Given the description of an element on the screen output the (x, y) to click on. 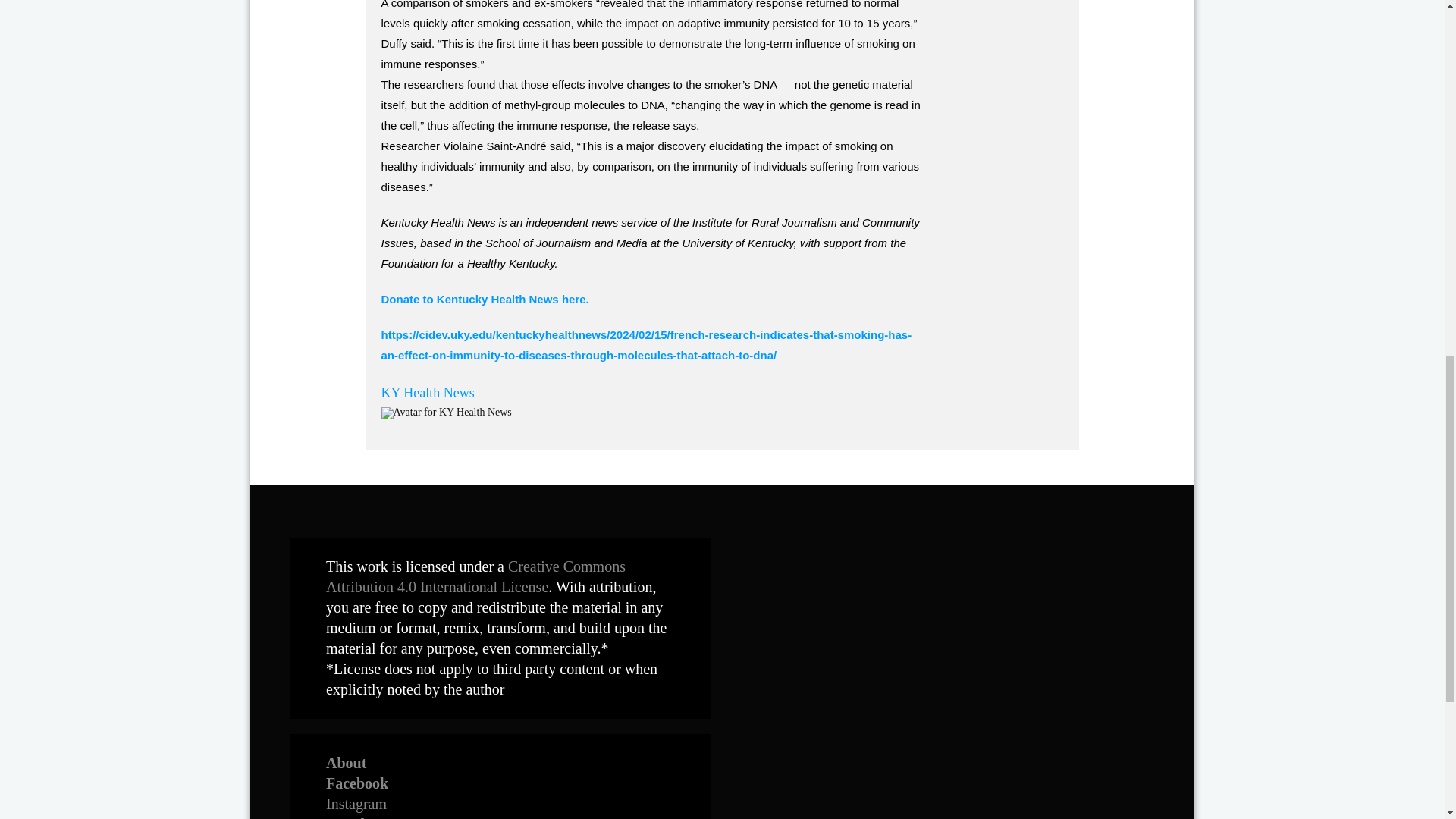
Gravatar for KY Health News (445, 413)
Posts by KY Health News (427, 392)
